Given the description of an element on the screen output the (x, y) to click on. 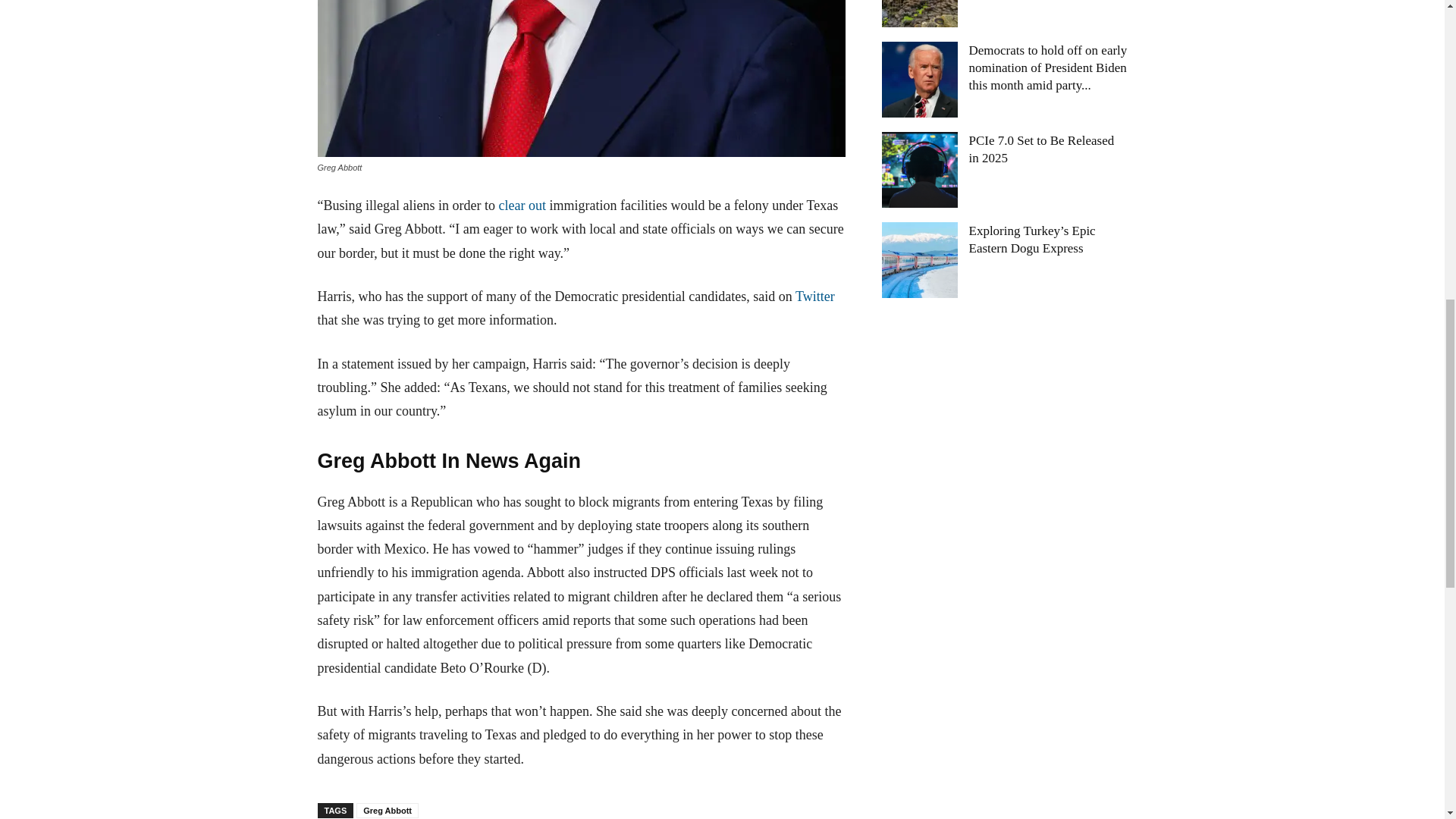
Greg Abbott (580, 78)
Greg Abbott (387, 810)
Twitter (814, 296)
clear out (520, 205)
